Given the description of an element on the screen output the (x, y) to click on. 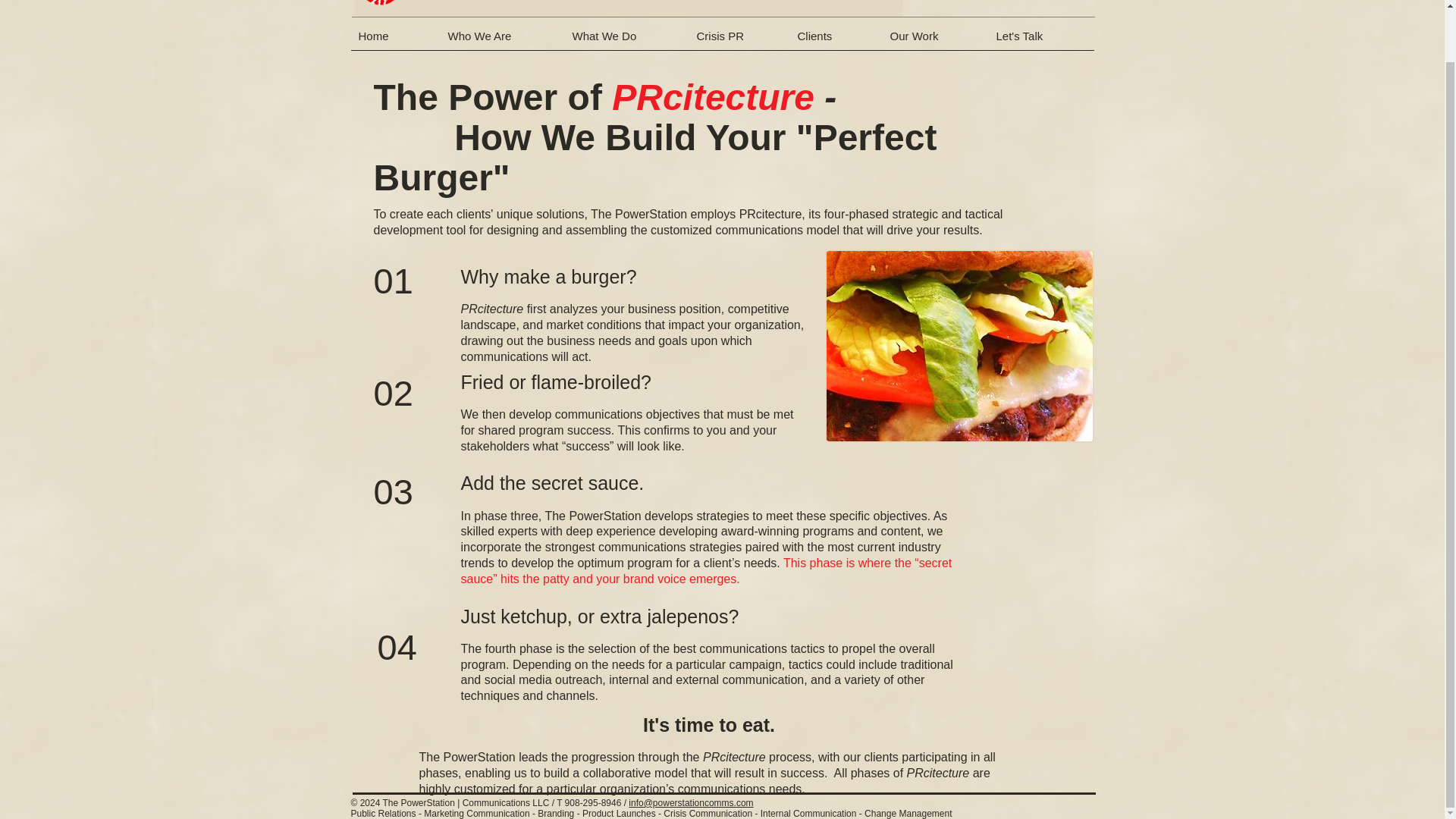
Let's Talk (1041, 40)
Clients (836, 40)
Our Work (935, 40)
Who We Are (501, 40)
Home (394, 40)
What We Do (626, 40)
Crisis PR (738, 40)
